Given the description of an element on the screen output the (x, y) to click on. 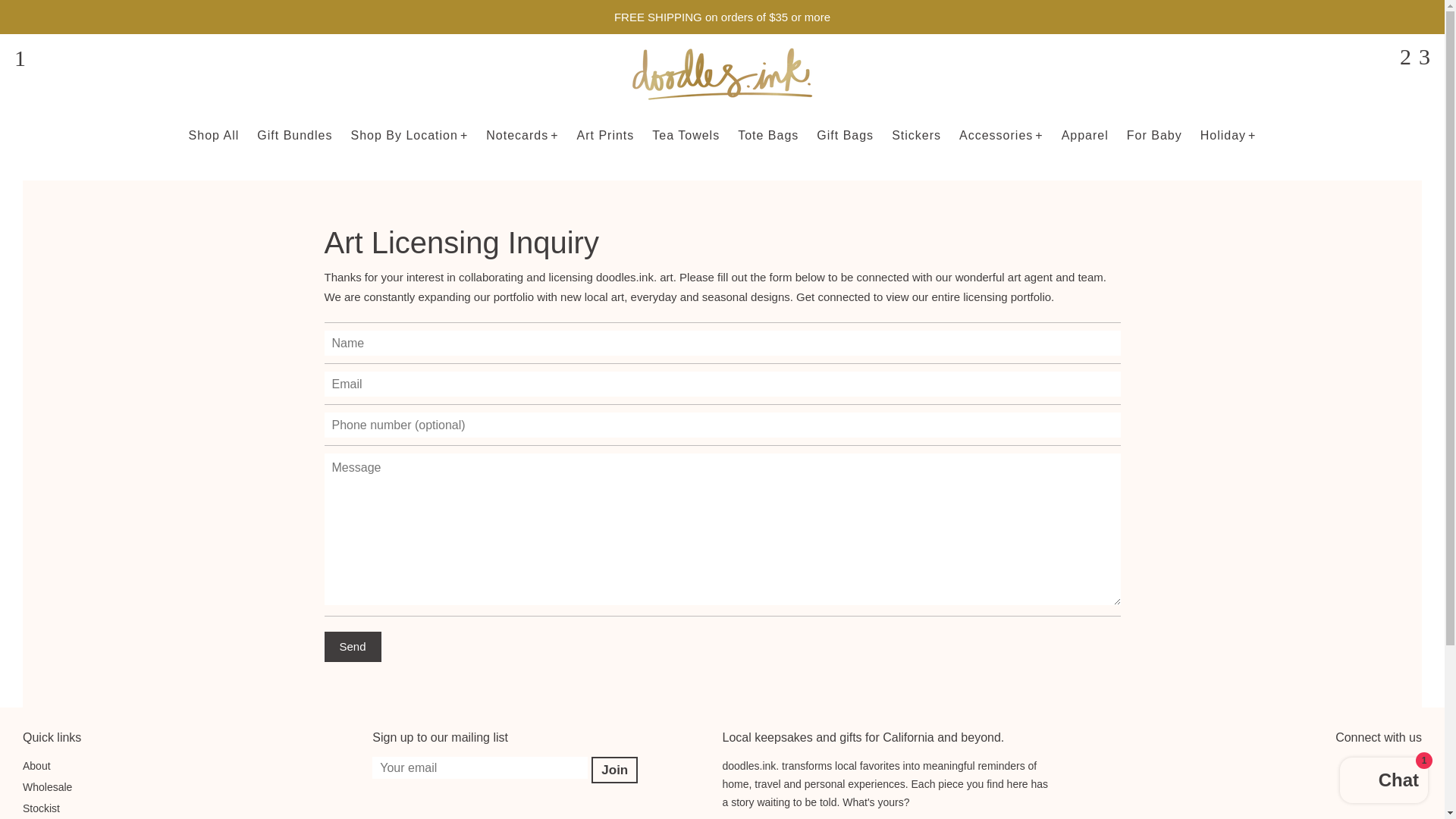
Shopify online store chat (1383, 781)
Notecards (522, 135)
Join (614, 769)
Shop All (213, 135)
doodles.ink. on Instagram (1414, 782)
Gift Bundles (293, 135)
Shop By Location (408, 135)
